Given the description of an element on the screen output the (x, y) to click on. 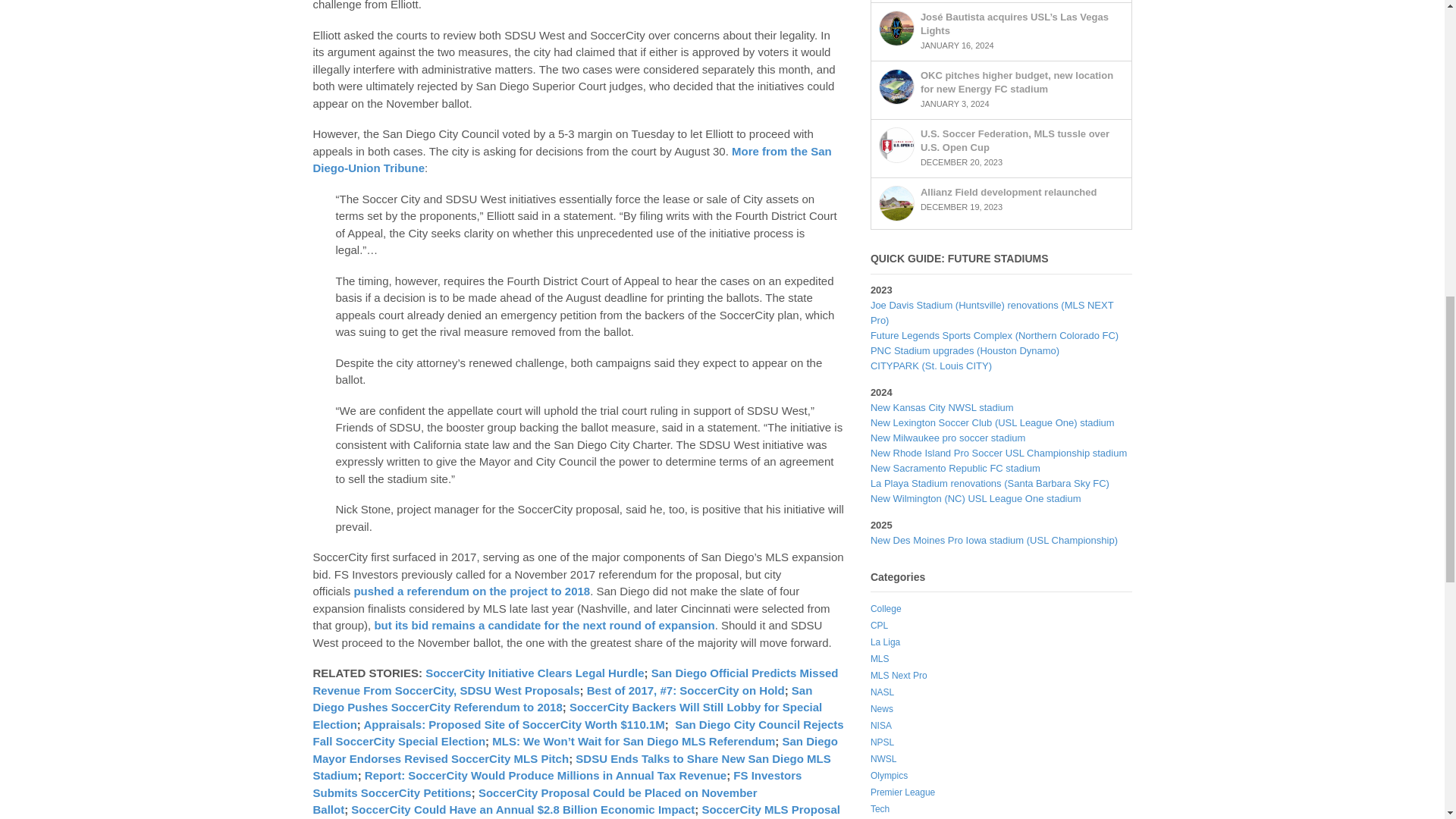
pushed a referendum on the project to 2018 (471, 590)
San Diego Pushes SoccerCity Referendum to 2018 (562, 698)
SoccerCity Backers Will Still Lobby for Special Election (567, 716)
SoccerCity Initiative Clears Legal Hurdle (534, 672)
More from the San Diego-Union Tribune (572, 159)
